Given the description of an element on the screen output the (x, y) to click on. 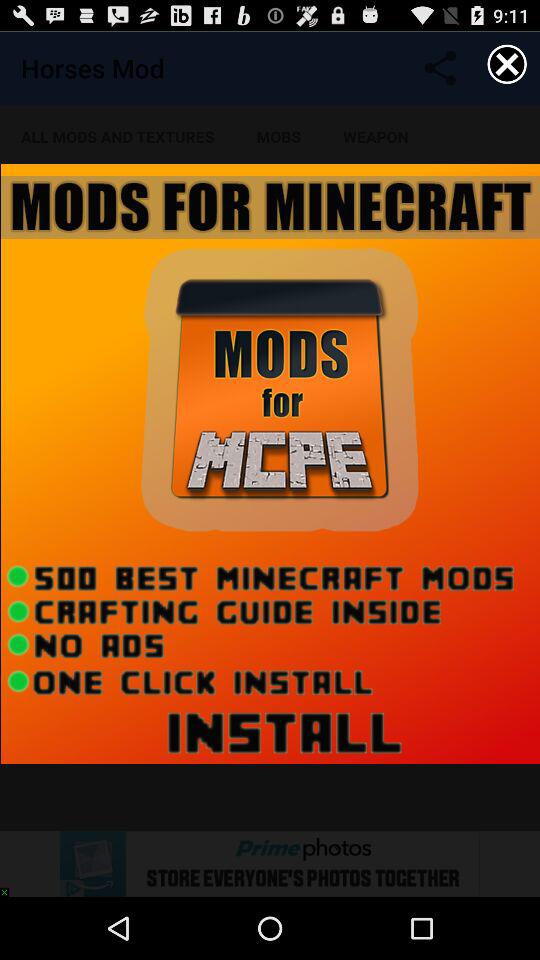
go to close (507, 64)
